Given the description of an element on the screen output the (x, y) to click on. 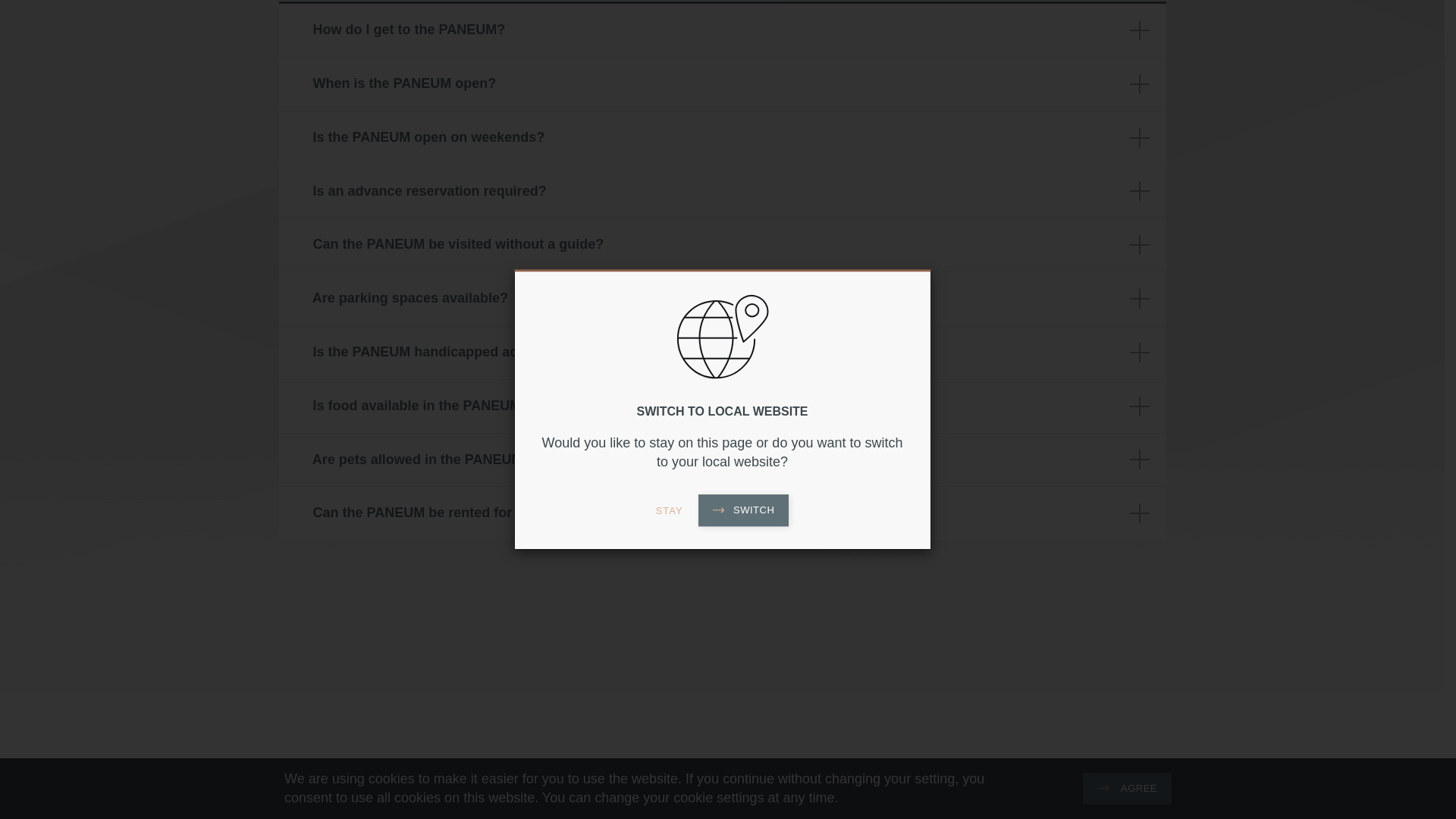
Are pets allowed in the PANEUM? (722, 460)
Can the PANEUM be visited without a guide? (722, 244)
Is the PANEUM open on weekends? (722, 137)
How do I get to the PANEUM? (722, 30)
STAY (669, 225)
Is the PANEUM handicapped accessible? (722, 352)
Is an advance reservation required? (722, 191)
When is the PANEUM open? (722, 83)
Is food available in the PANEUM? (722, 406)
Are parking spaces available? (722, 298)
